Given the description of an element on the screen output the (x, y) to click on. 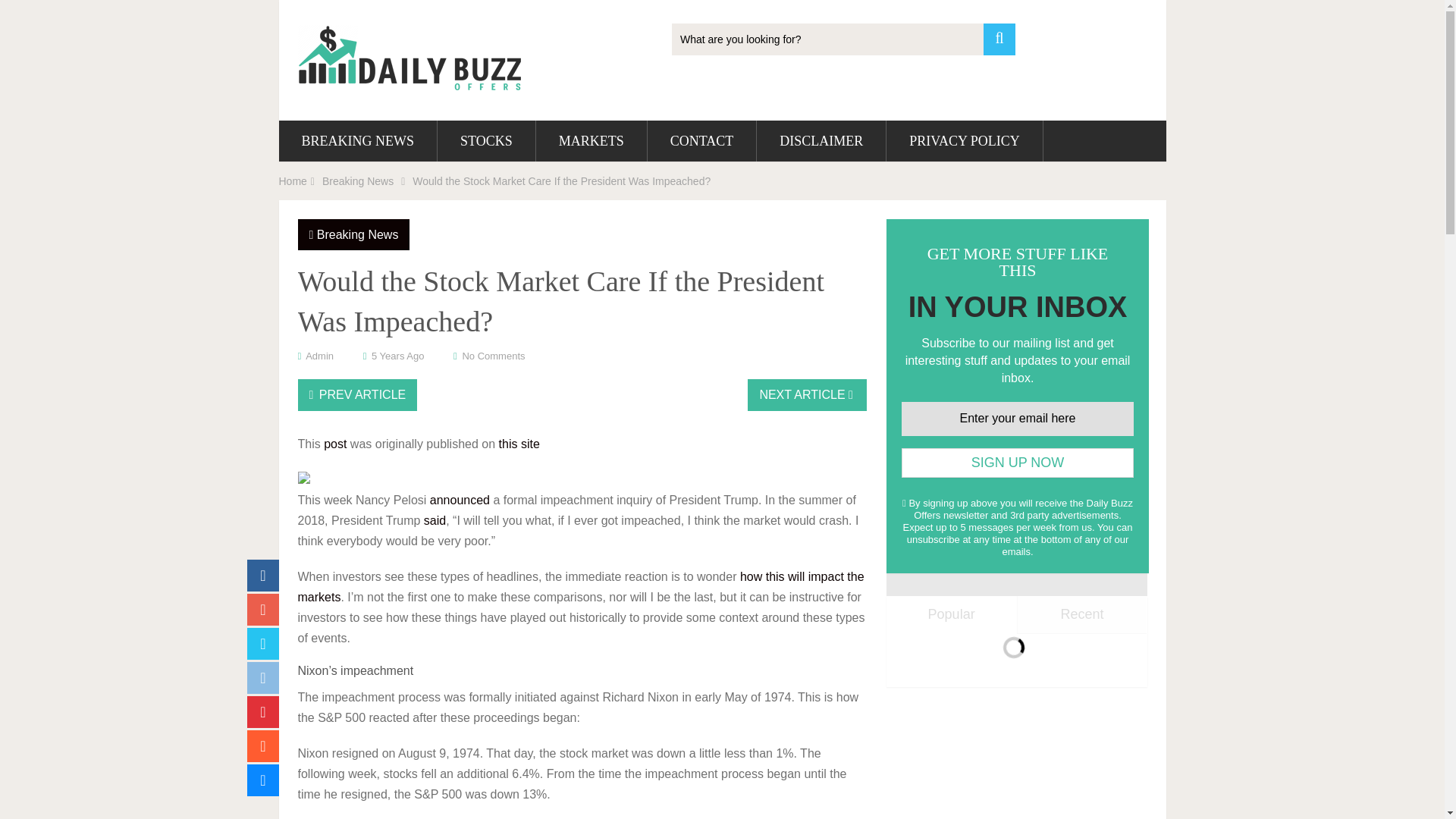
this site (519, 443)
Breaking News (357, 234)
Sign Up Now (1017, 462)
Breaking News (357, 181)
Home (293, 181)
DISCLAIMER (821, 140)
BREAKING NEWS (358, 140)
Posts by admin (319, 355)
CONTACT (702, 140)
Admin (319, 355)
